Given the description of an element on the screen output the (x, y) to click on. 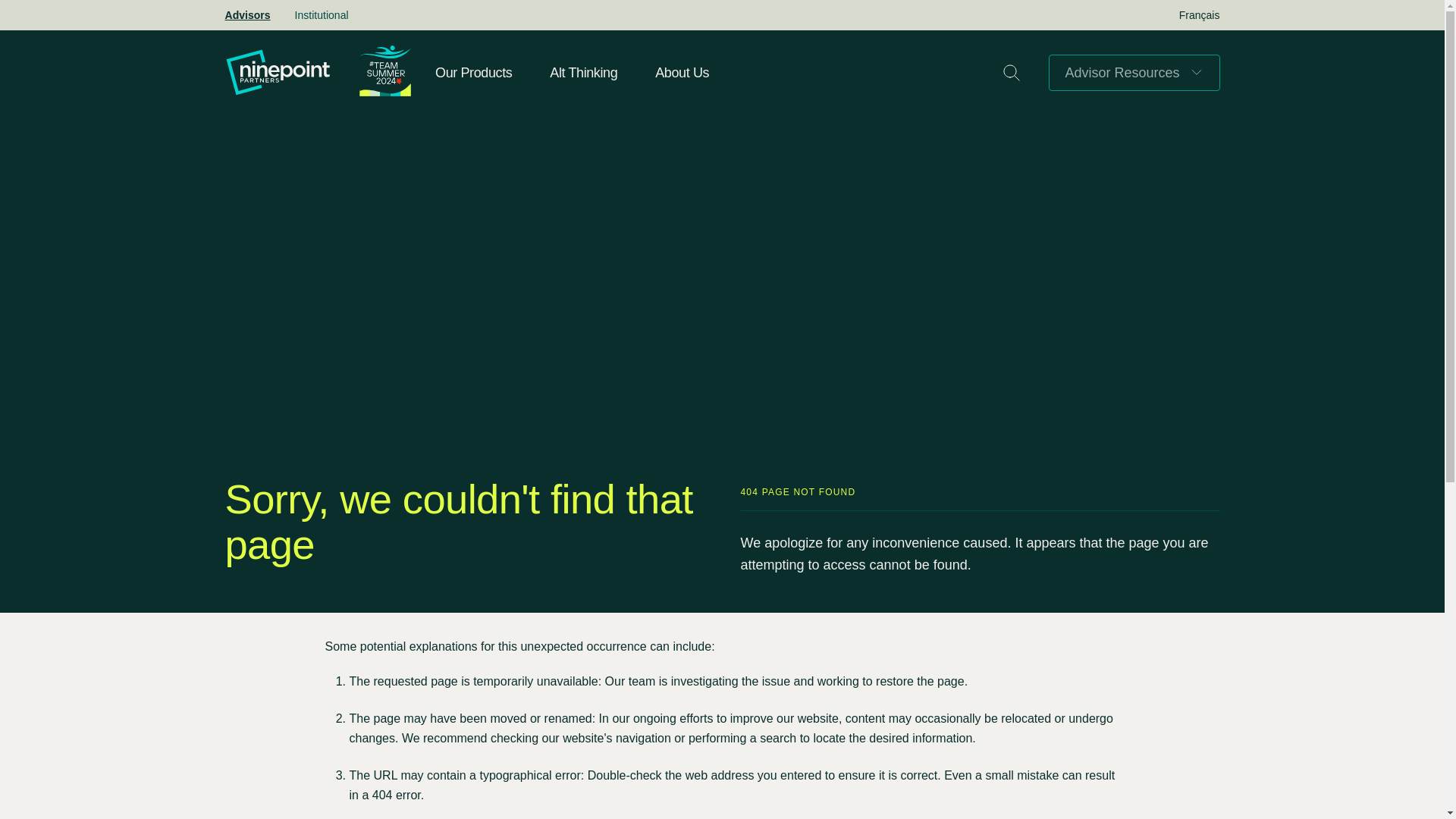
About Us (682, 72)
Our Products (473, 72)
Advisors (247, 15)
Institutional (321, 15)
Alt Thinking (583, 72)
